Given the description of an element on the screen output the (x, y) to click on. 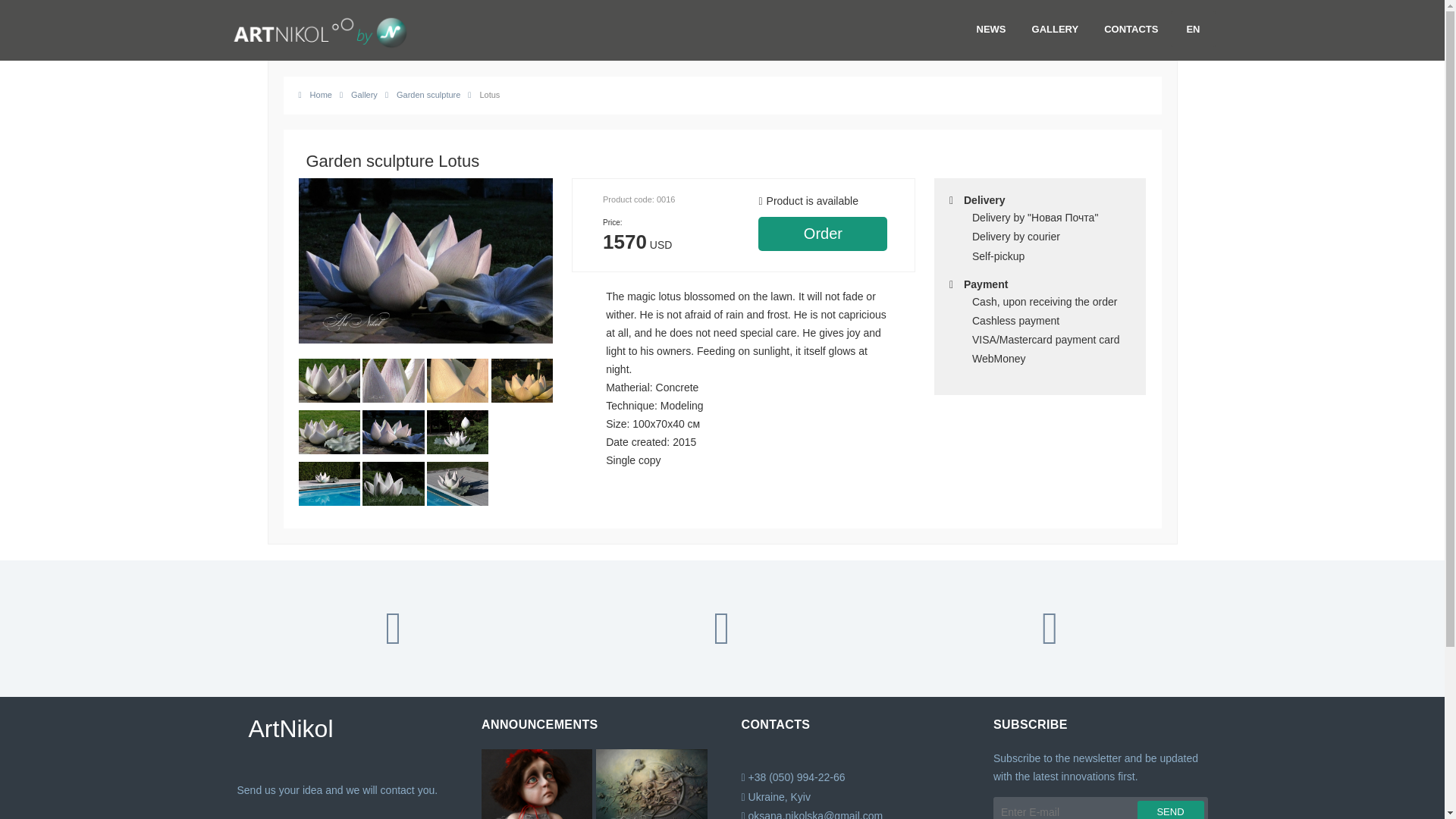
Lotus (483, 94)
Garden sculpture (422, 94)
Home (314, 94)
Order (822, 233)
NEWS (991, 28)
Gallery (358, 94)
ArtNikol (343, 728)
GALLERY (1055, 28)
CONTACTS (1130, 28)
EN (1192, 29)
